Given the description of an element on the screen output the (x, y) to click on. 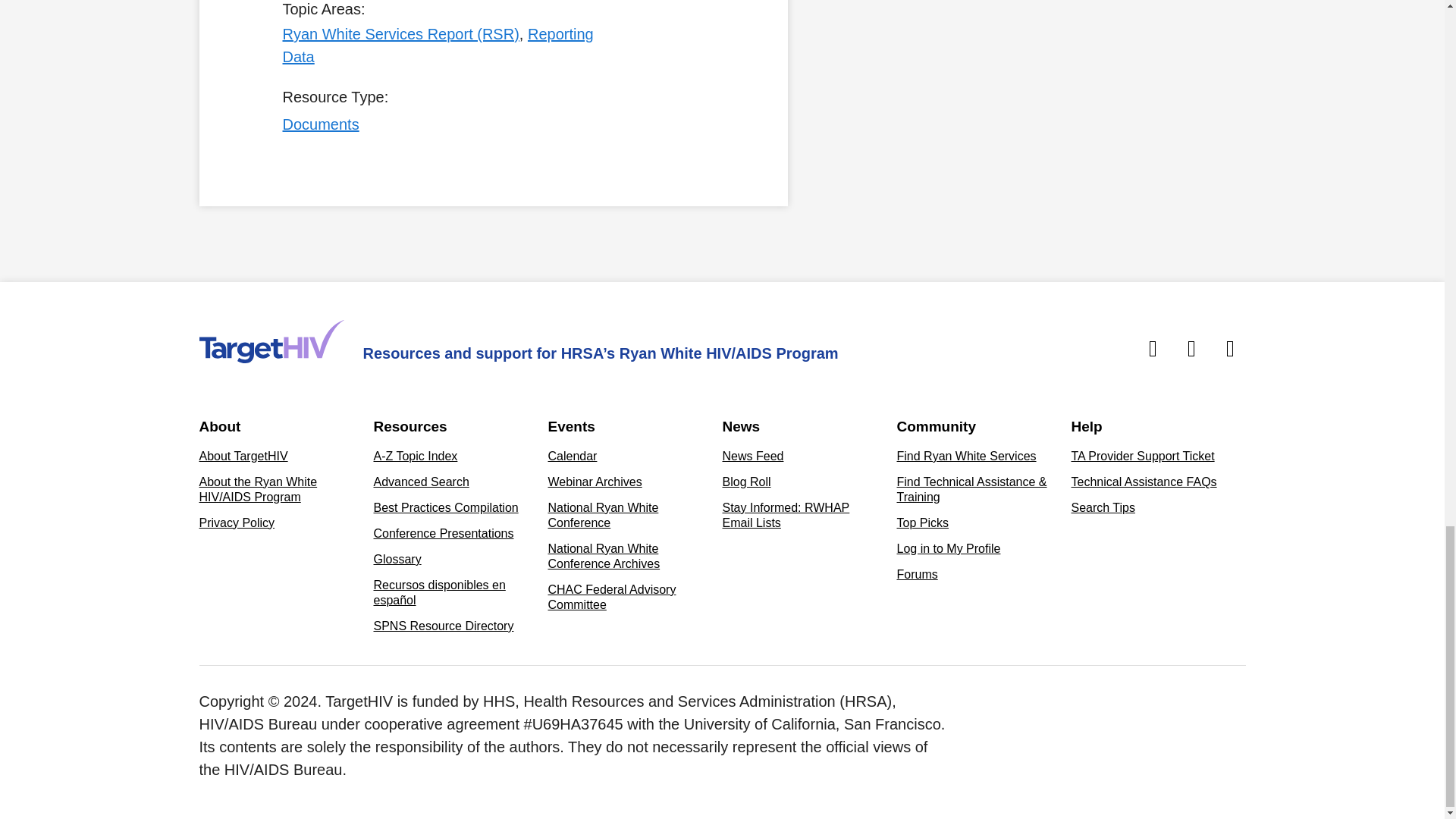
Home (270, 341)
